Given the description of an element on the screen output the (x, y) to click on. 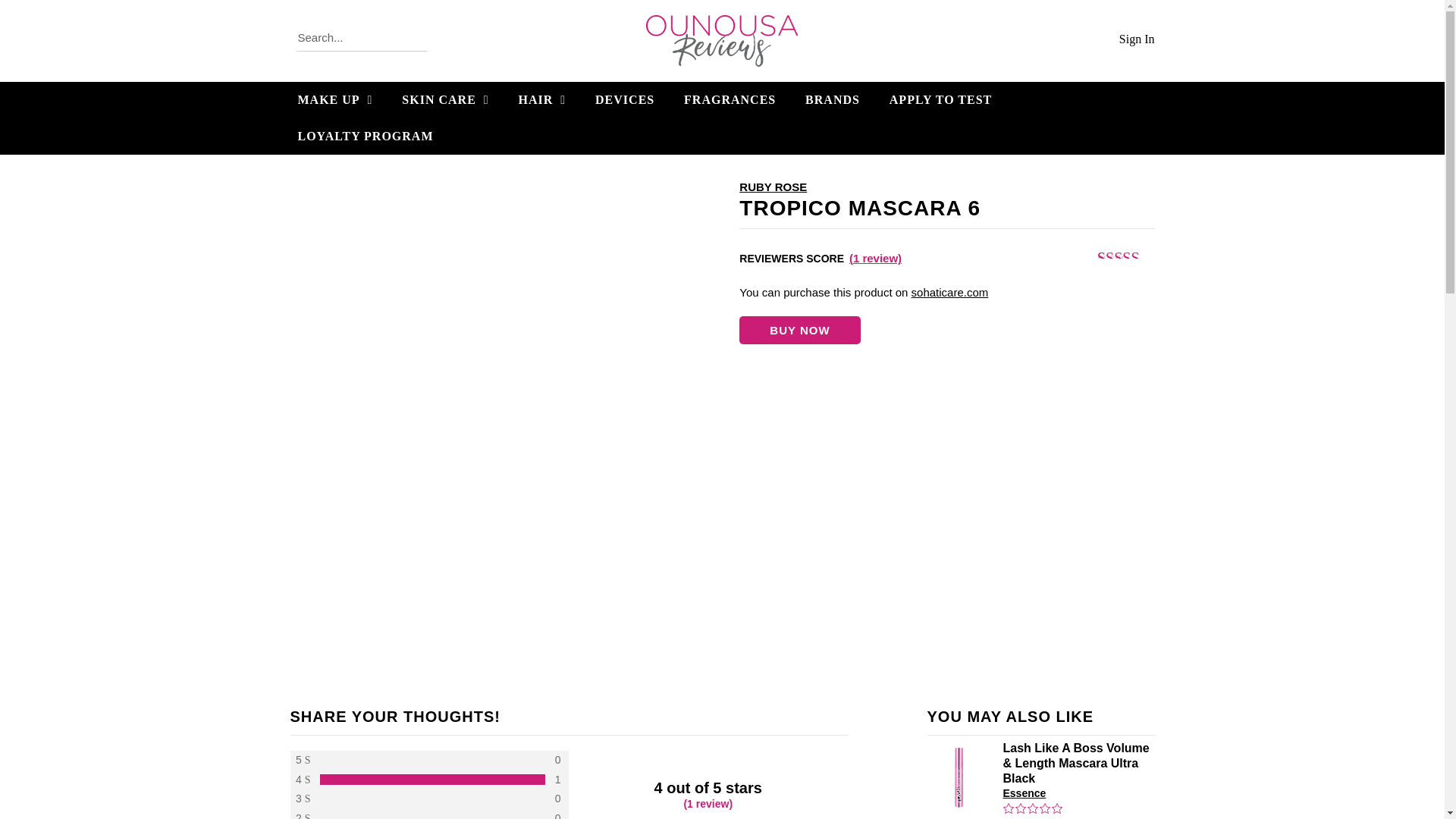
Sign In (1136, 39)
SKIN CARE (446, 99)
MAKE UP (337, 99)
Average Rating: 0 (1032, 809)
